Given the description of an element on the screen output the (x, y) to click on. 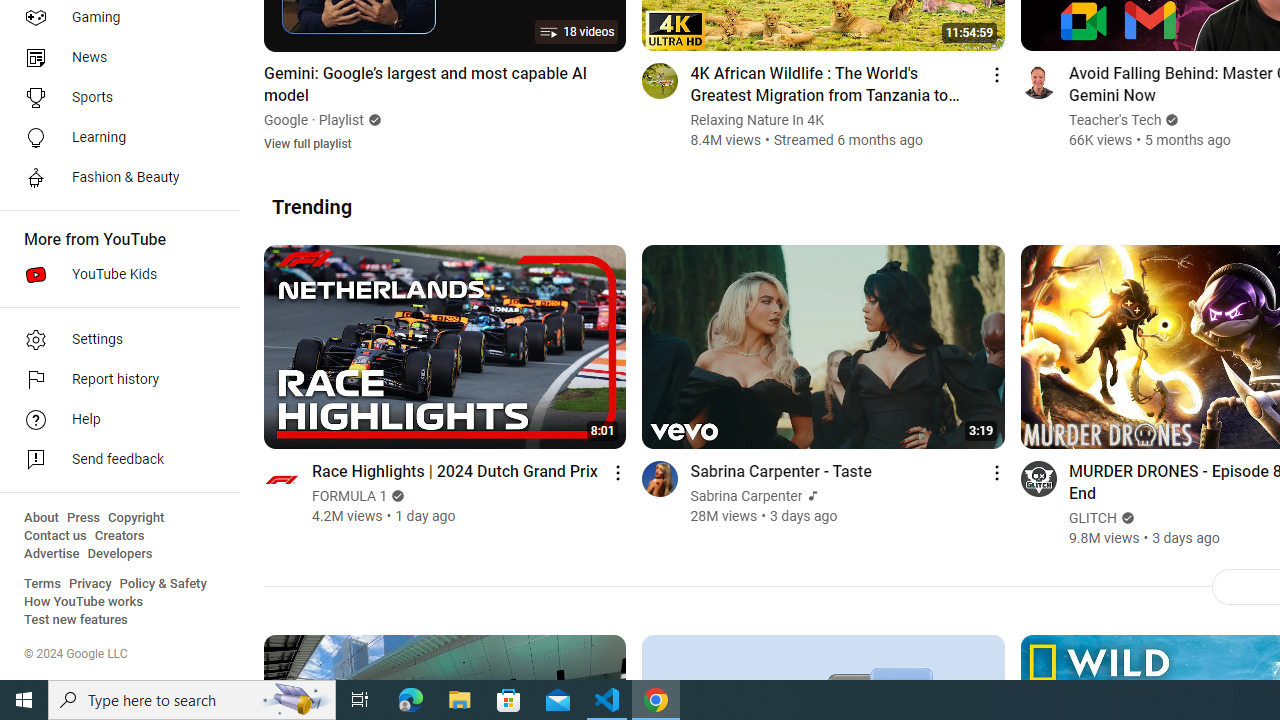
How YouTube works (83, 602)
Trending (312, 206)
Report history (113, 380)
Learning (113, 137)
FORMULA 1 (350, 496)
Press (83, 518)
GLITCH (1092, 518)
Fashion & Beauty (113, 177)
Send feedback (113, 459)
Developers (120, 554)
